Given the description of an element on the screen output the (x, y) to click on. 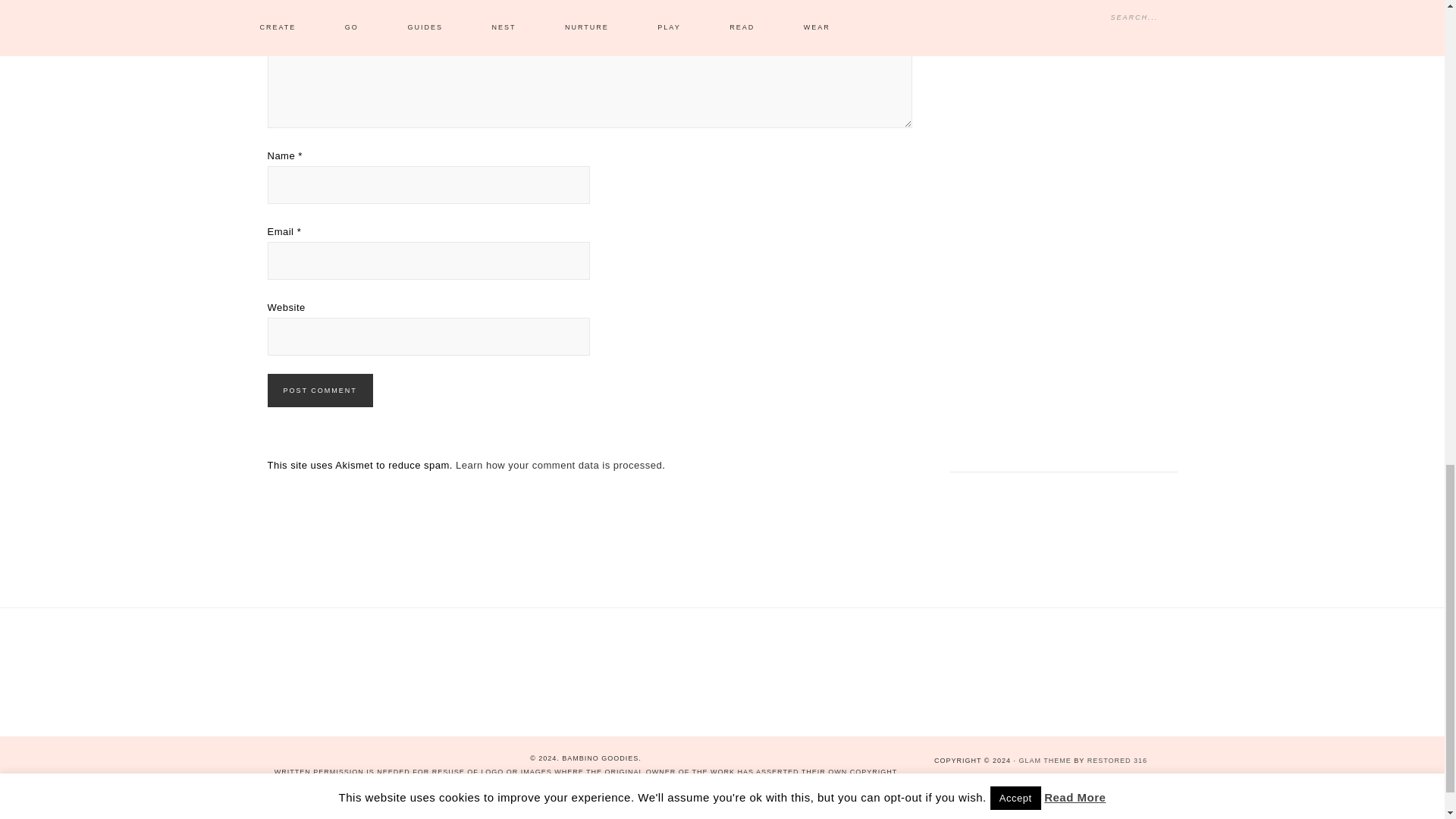
Post Comment (319, 390)
